Given the description of an element on the screen output the (x, y) to click on. 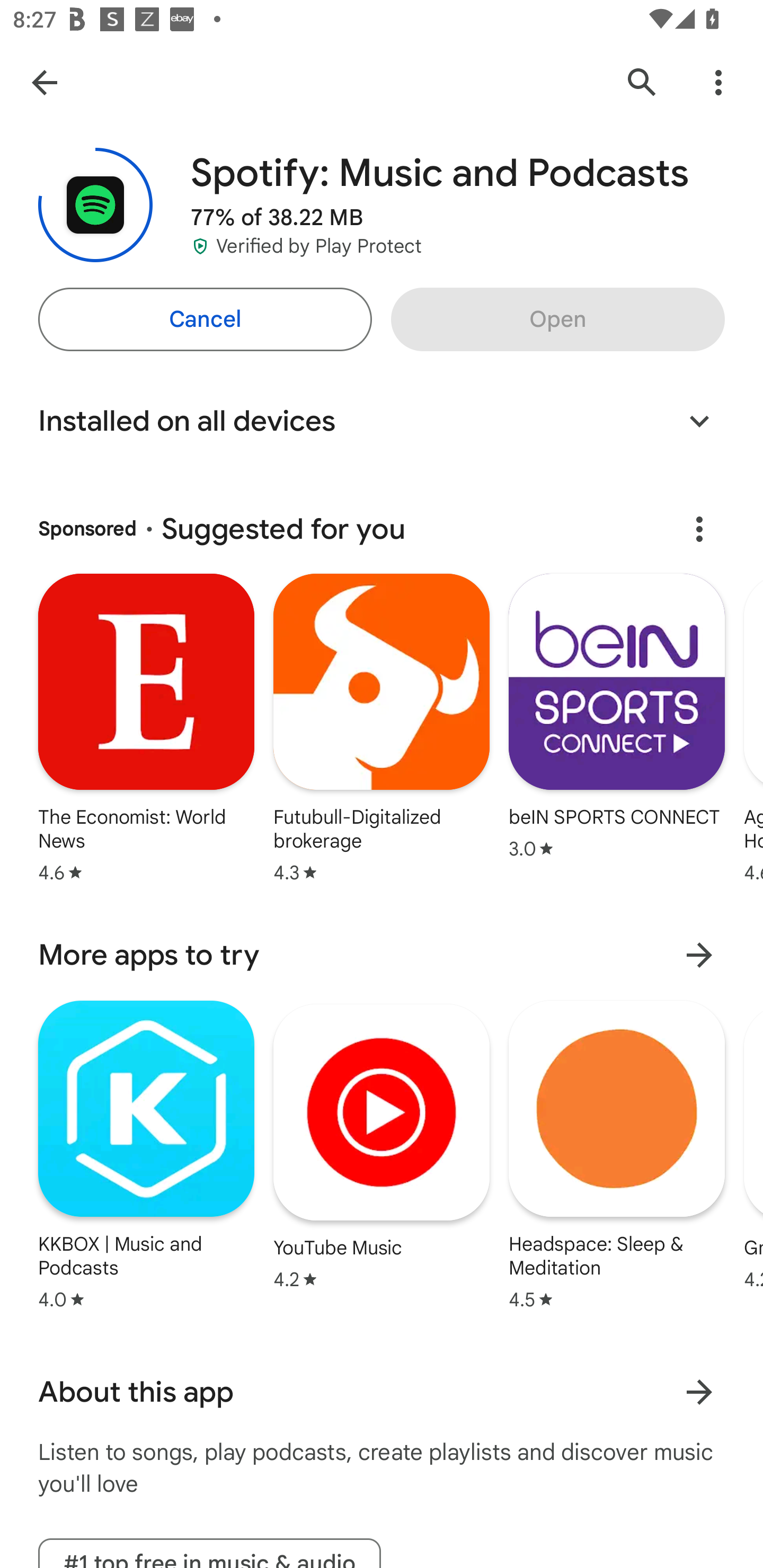
Navigate up (44, 81)
Search Google Play (642, 81)
More Options (718, 81)
Cancel (205, 318)
Open (557, 318)
Installed on all devices Expand (381, 420)
Expand (699, 420)
About this ad (699, 528)
The Economist: World News
Star rating: 4.6
 (146, 730)
Futubull-Digitalized brokerage
Star rating: 4.3
 (381, 730)
beIN SPORTS CONNECT
Star rating: 3.0
 (616, 717)
More apps to try More results for More apps to try (381, 955)
More results for More apps to try (699, 954)
KKBOX | Music and Podcasts
Star rating: 4.0
 (145, 1154)
YouTube Music
Star rating: 4.2
 (381, 1146)
Headspace: Sleep & Meditation
Star rating: 4.5
 (616, 1154)
About this app Learn more About this app (381, 1391)
Learn more About this app (699, 1392)
